Given the description of an element on the screen output the (x, y) to click on. 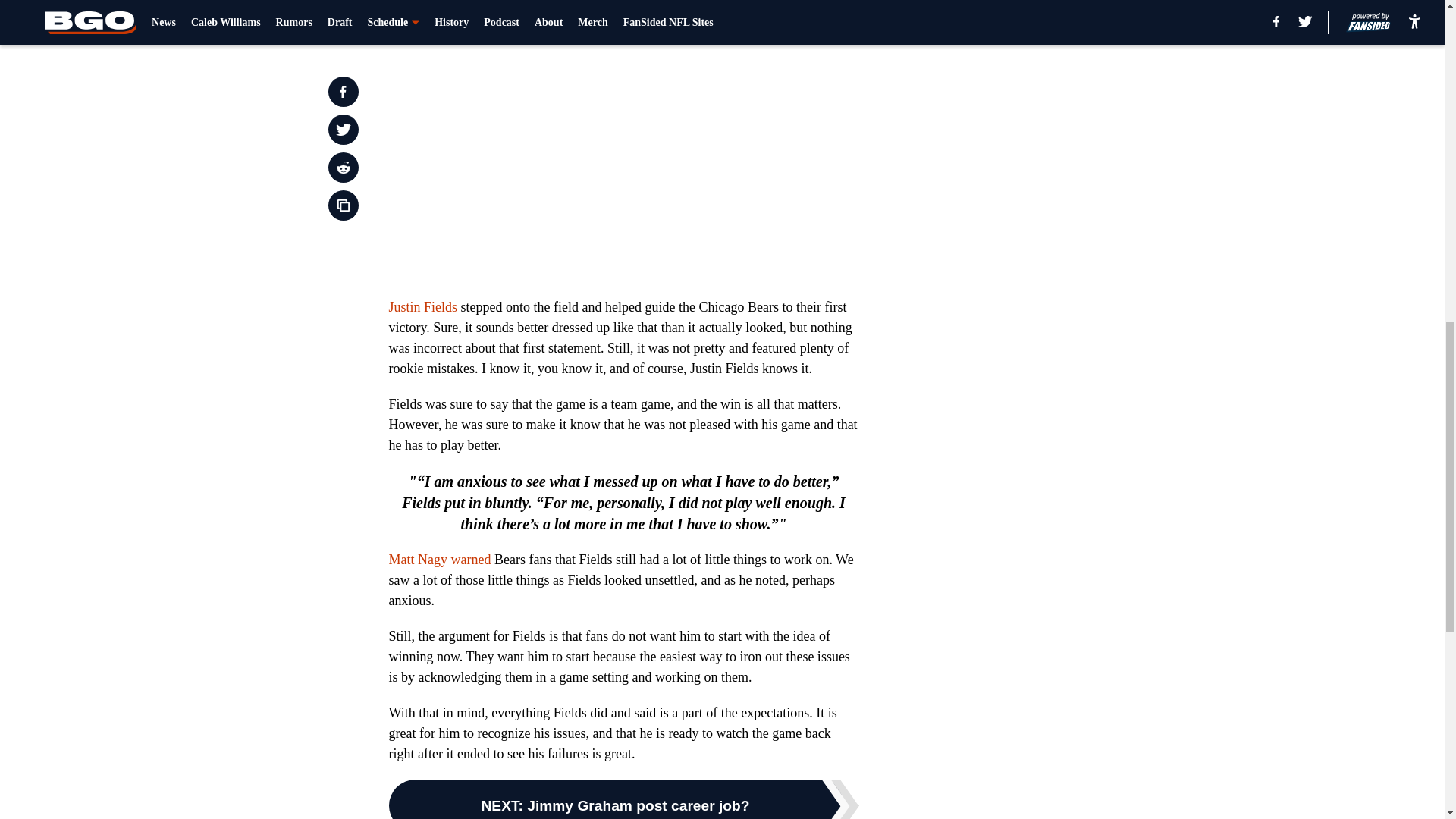
Matt Nagy warned (439, 559)
Justin Fields (422, 306)
NEXT: Jimmy Graham post career job? (623, 799)
